Given the description of an element on the screen output the (x, y) to click on. 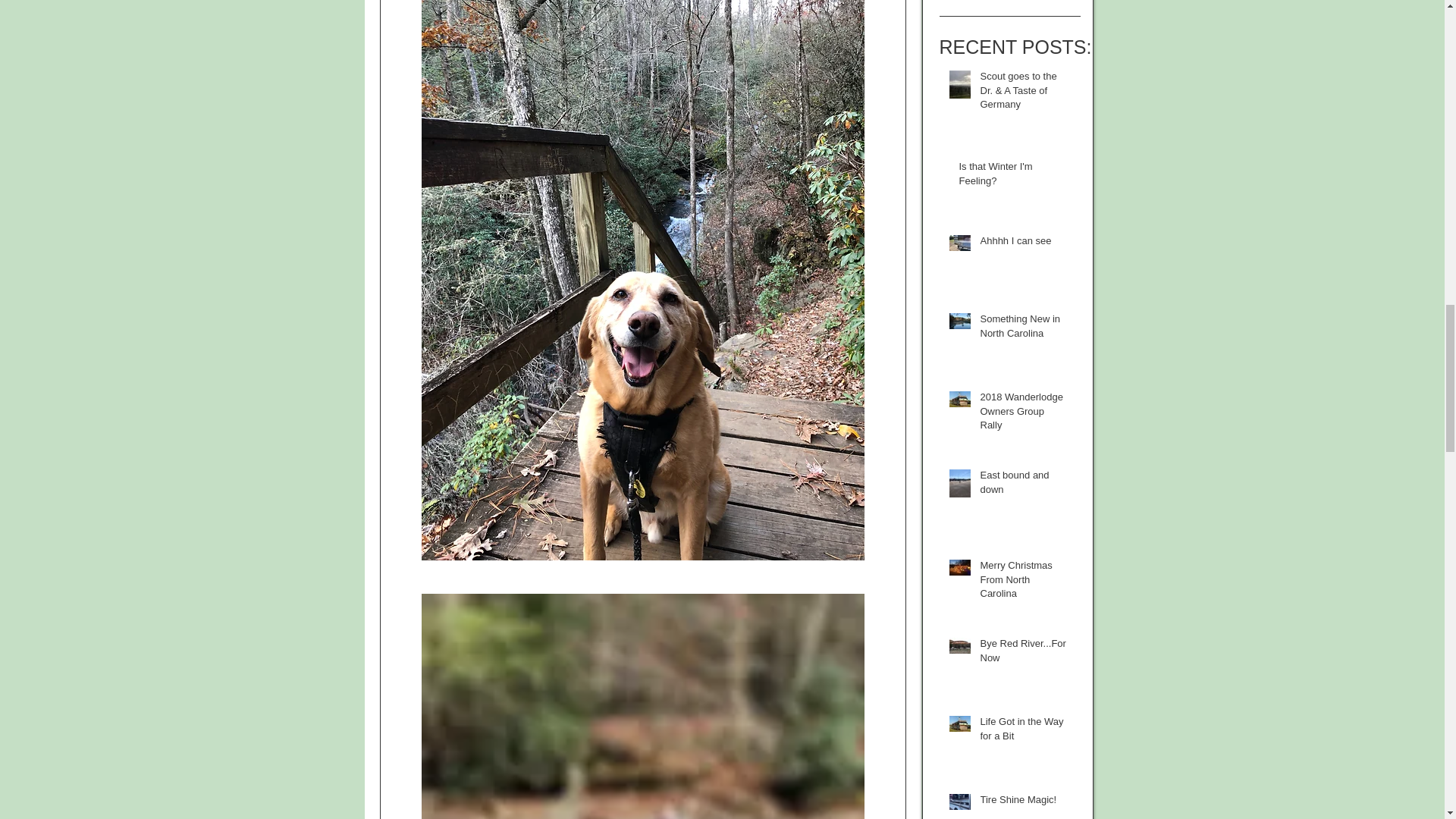
Bye Red River...For Now (1022, 653)
Ahhhh I can see (1022, 243)
Tire Shine Magic! (1022, 803)
Something New in North Carolina (1022, 328)
Is that Winter I'm Feeling? (1011, 176)
East bound and down (1022, 485)
Life Got in the Way for a Bit (1022, 731)
Merry Christmas From North Carolina (1022, 582)
2018 Wanderlodge Owners Group Rally (1022, 414)
